Given the description of an element on the screen output the (x, y) to click on. 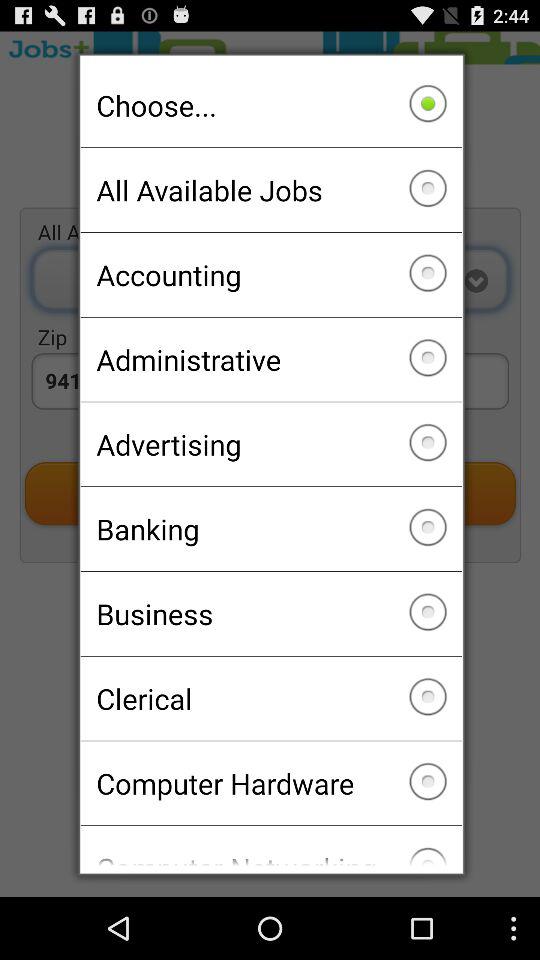
jump to the business checkbox (270, 613)
